Given the description of an element on the screen output the (x, y) to click on. 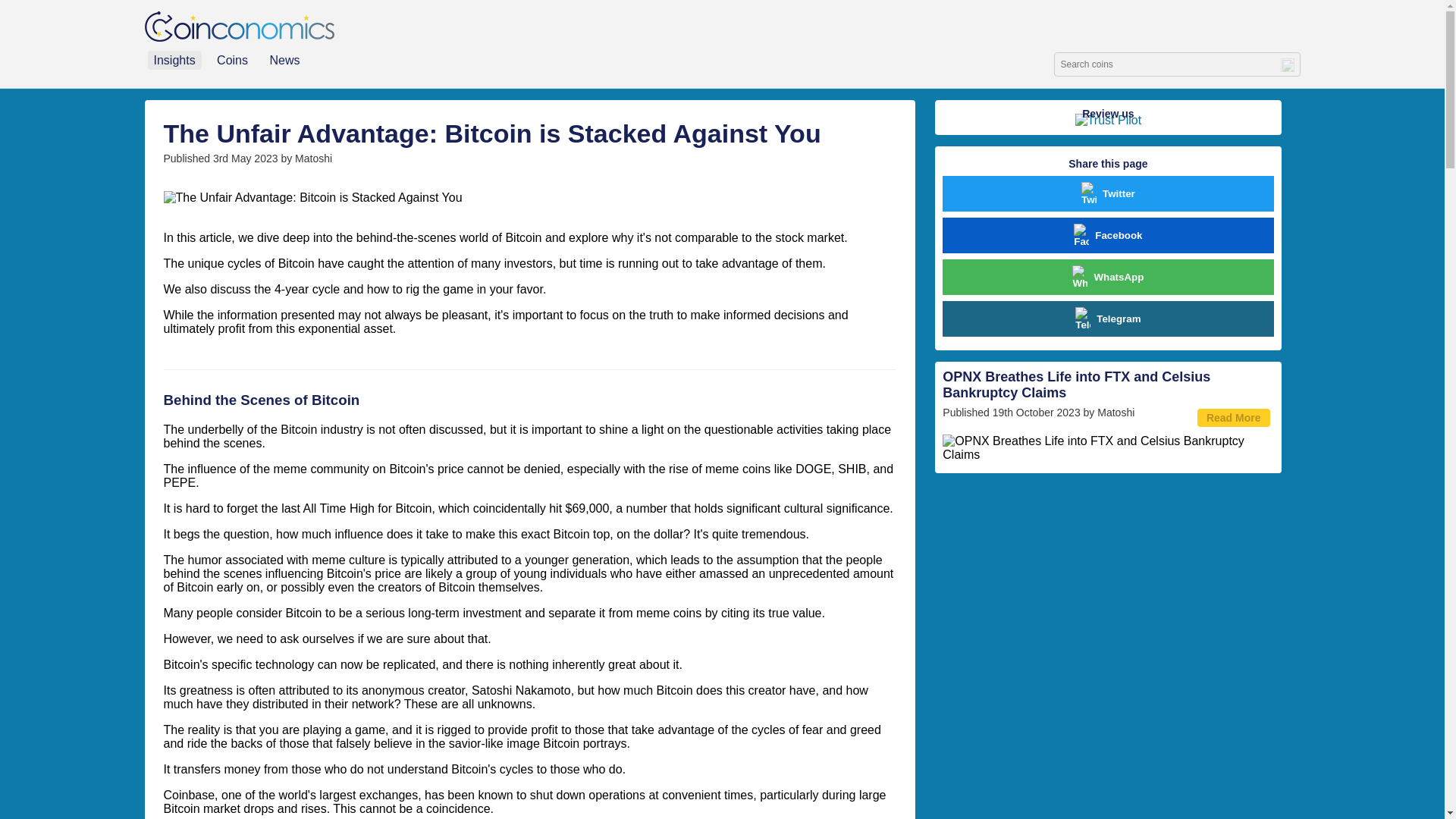
Coins (230, 59)
News (282, 59)
Telegram (1107, 318)
Insights (173, 59)
WhatsApp (1107, 276)
Twitter (1107, 193)
Read More (1232, 417)
Facebook (1107, 235)
Review us (1107, 117)
